Given the description of an element on the screen output the (x, y) to click on. 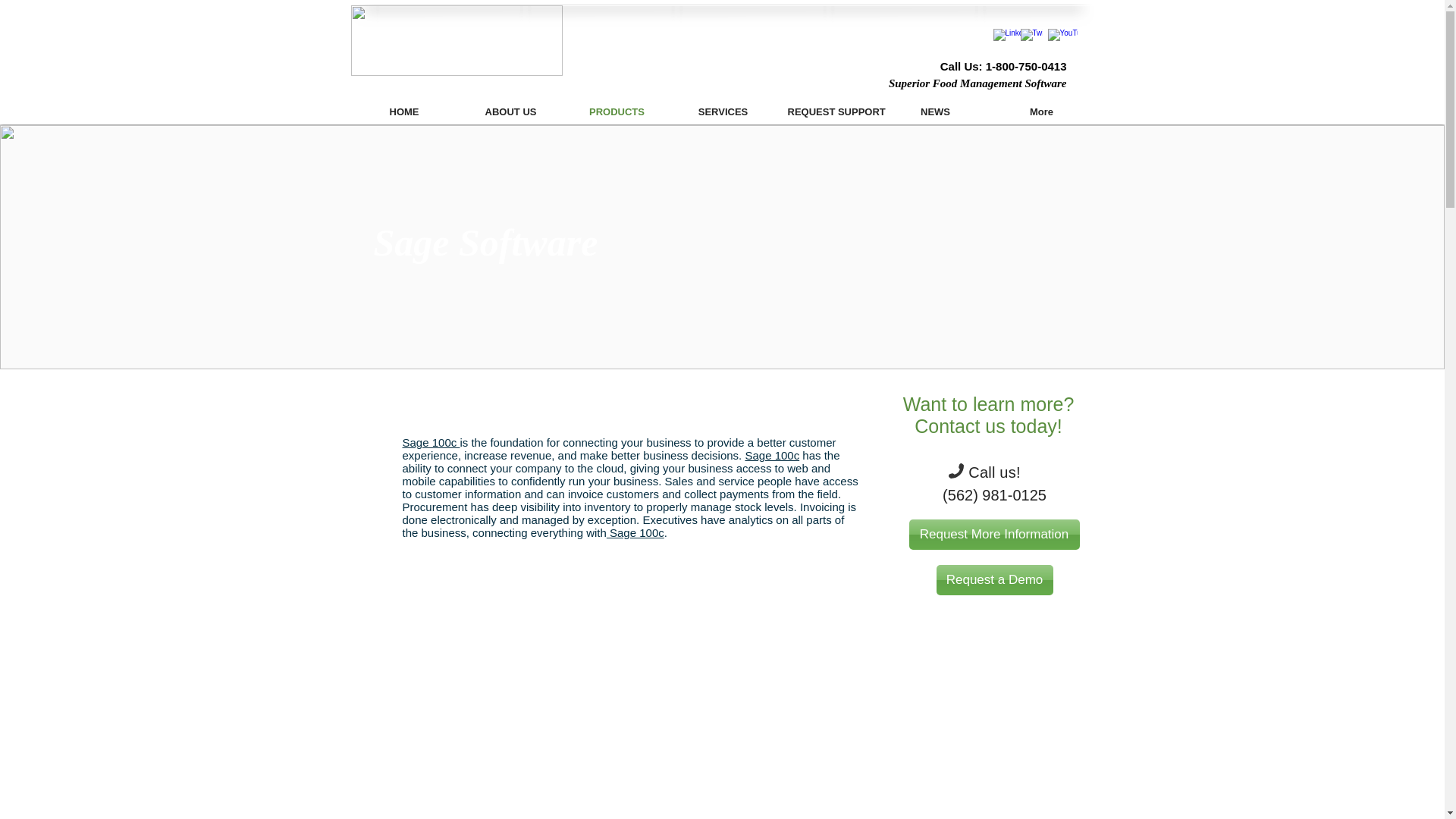
NEWS (935, 112)
REQUEST SUPPORT (829, 112)
SERVICES (722, 112)
Sage 100c (430, 441)
External YouTube (583, 688)
PRODUCTS (616, 112)
Sage 100c (635, 532)
ABOUT US (511, 112)
HOME (403, 112)
Request a Demo (994, 580)
